Given the description of an element on the screen output the (x, y) to click on. 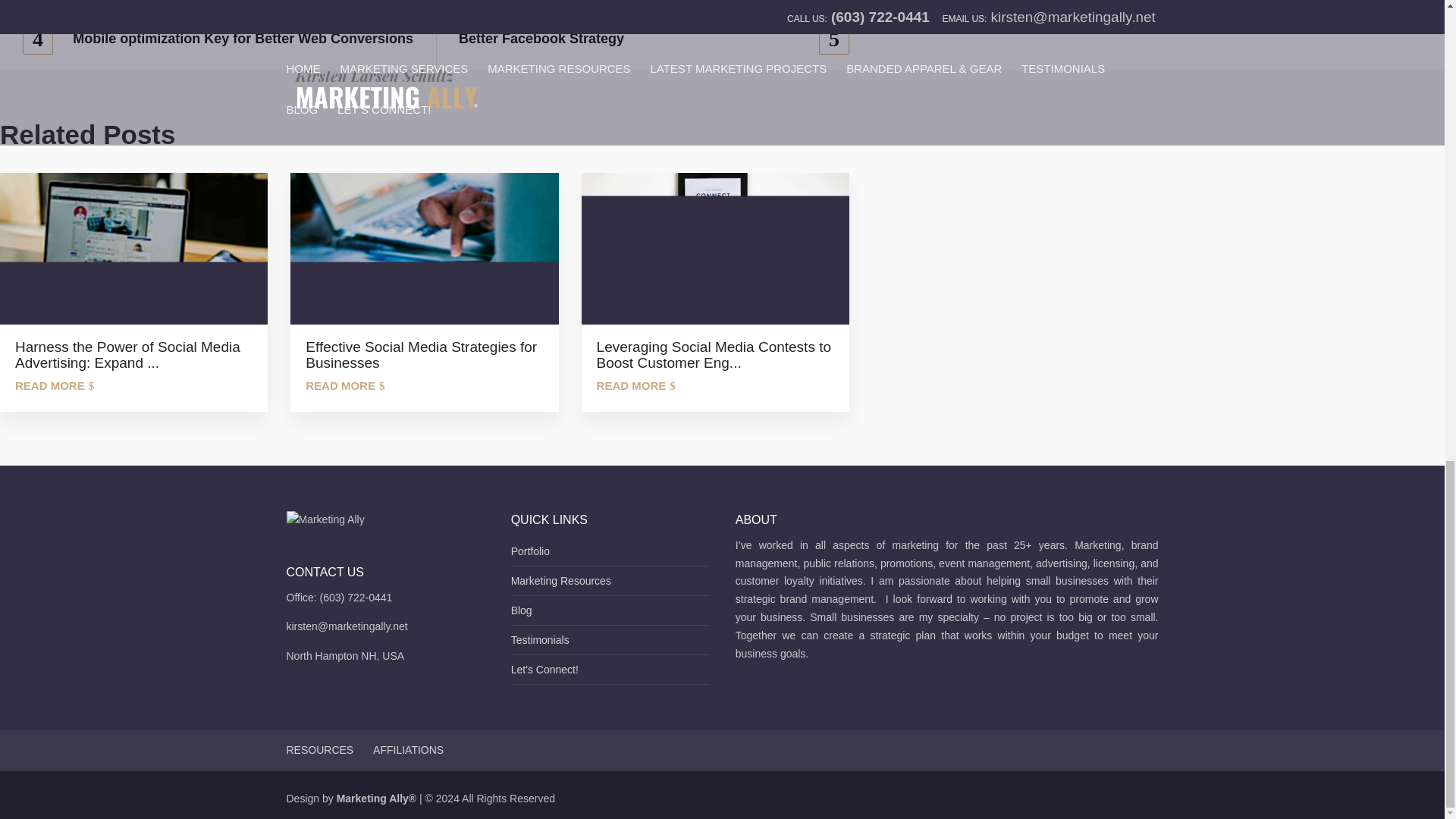
Better Facebook Strategy (653, 38)
READ MORE (635, 385)
Effective Social Media Strategies for Businesses (423, 351)
READ MORE (344, 385)
Harness the Power of Social Media Advertising: Expand ... (133, 351)
READ MORE (54, 385)
Leveraging Social Media Contests to Boost Customer Eng... (714, 351)
Portfolio (530, 551)
Mobile optimization Key for Better Web Conversions (218, 38)
